Given the description of an element on the screen output the (x, y) to click on. 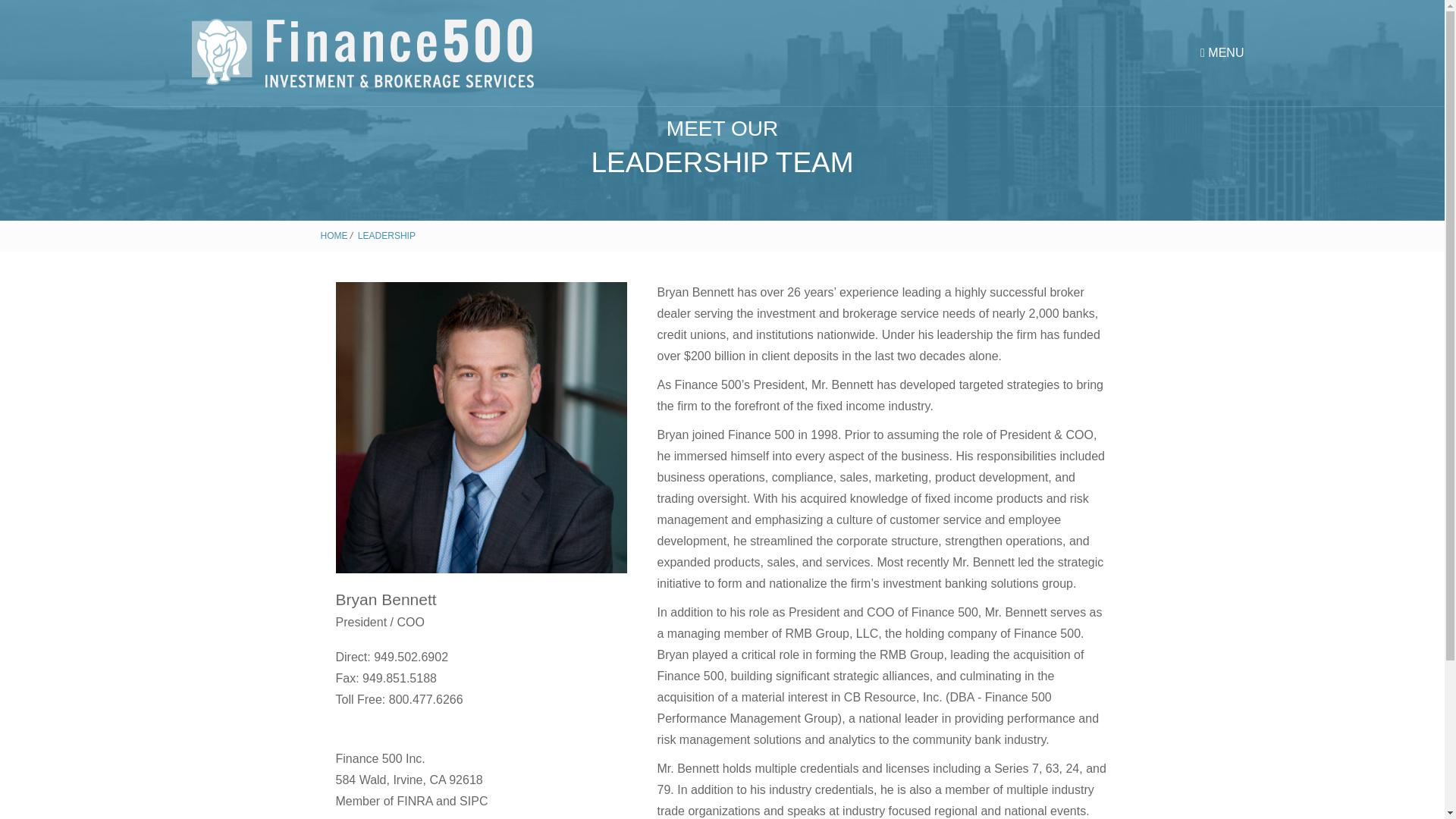
bryan-bennett-profile-finance500-850 (480, 427)
MENU (1221, 52)
LEADERSHIP (386, 235)
HOME (333, 235)
